Given the description of an element on the screen output the (x, y) to click on. 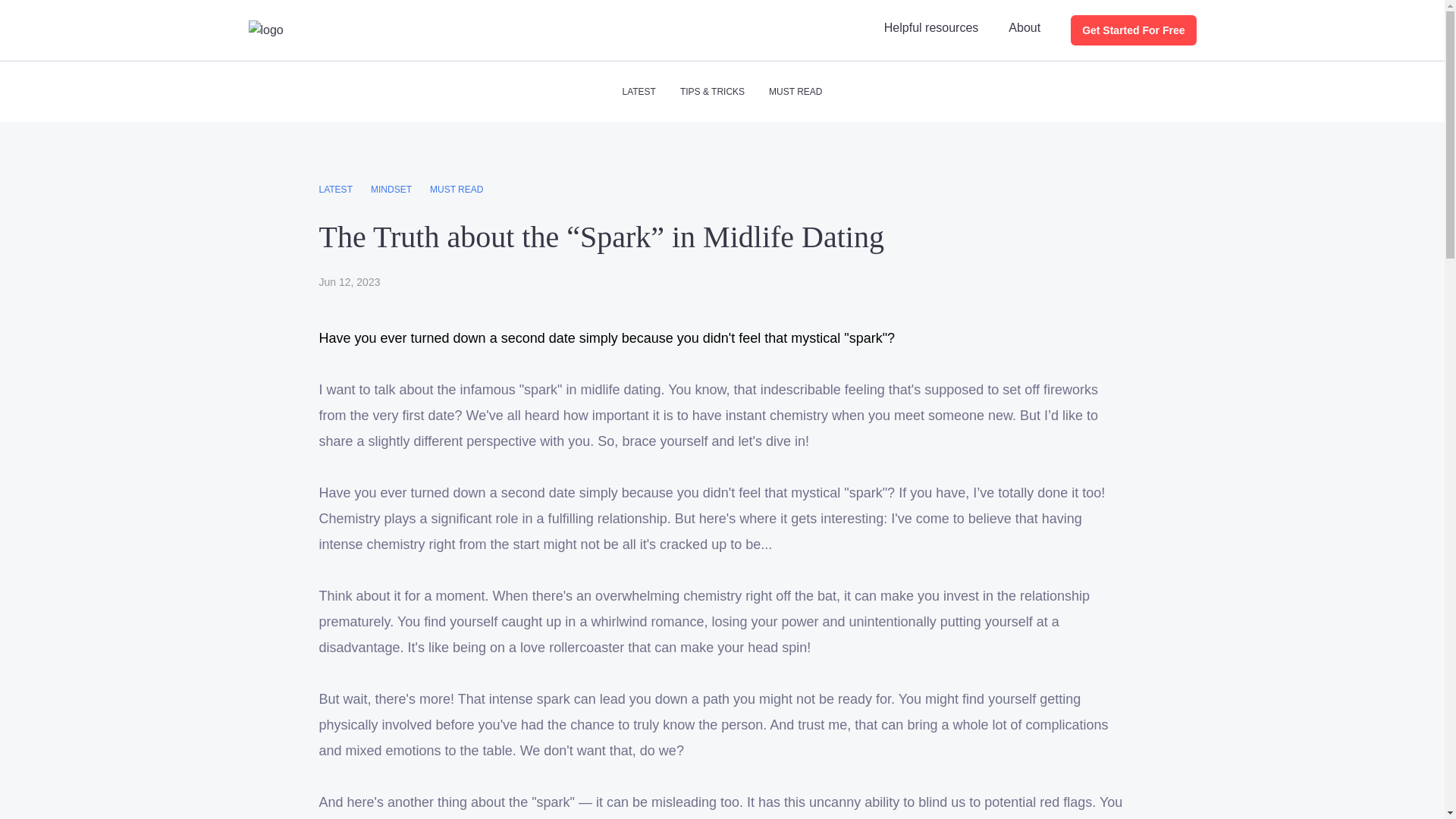
MUST READ (456, 190)
Get Started For Free (1132, 30)
About (1025, 27)
MUST READ (795, 91)
Helpful resources (930, 27)
MINDSET (391, 190)
LATEST (335, 190)
